Given the description of an element on the screen output the (x, y) to click on. 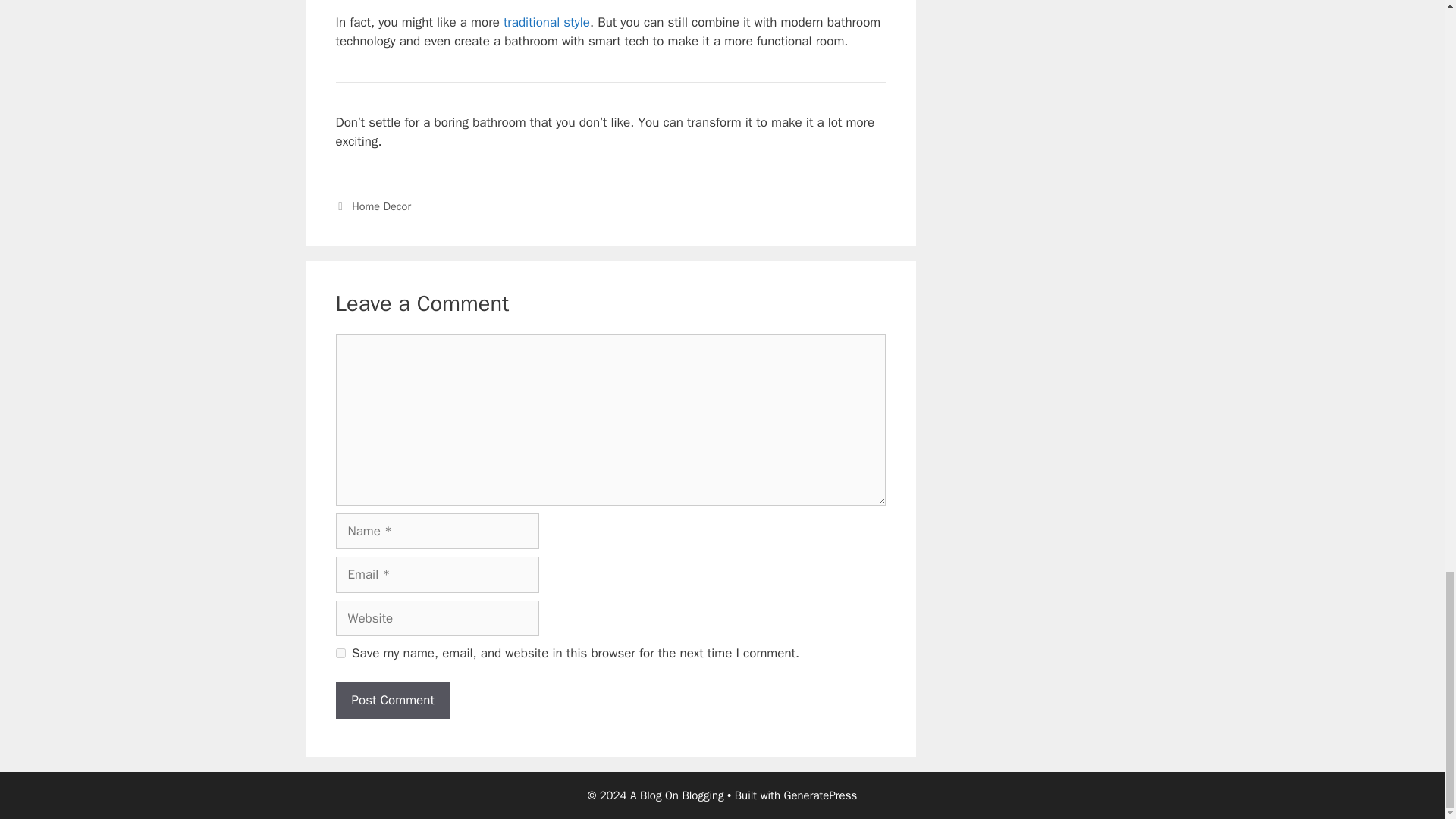
yes (339, 653)
Home Decor (381, 205)
Post Comment (391, 700)
Post Comment (391, 700)
traditional style (546, 22)
